Given the description of an element on the screen output the (x, y) to click on. 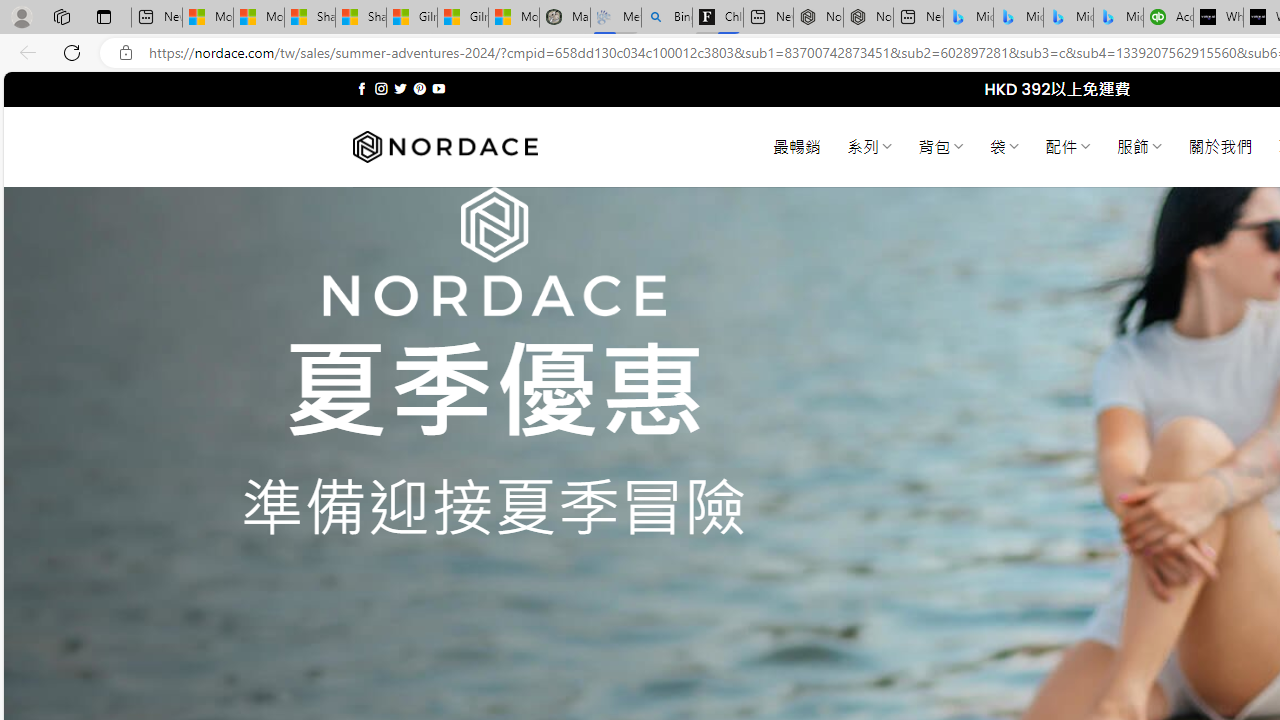
Personal Profile (21, 16)
Nordace (444, 147)
Follow on Facebook (361, 88)
Follow on Pinterest (419, 88)
Accounting Software for Accountants, CPAs and Bookkeepers (1168, 17)
Workspaces (61, 16)
Follow on Twitter (400, 88)
Follow on YouTube (438, 88)
Microsoft Bing Travel - Shangri-La Hotel Bangkok (1118, 17)
Gilma and Hector both pose tropical trouble for Hawaii (462, 17)
Manatee Mortality Statistics | FWC (565, 17)
